Given the description of an element on the screen output the (x, y) to click on. 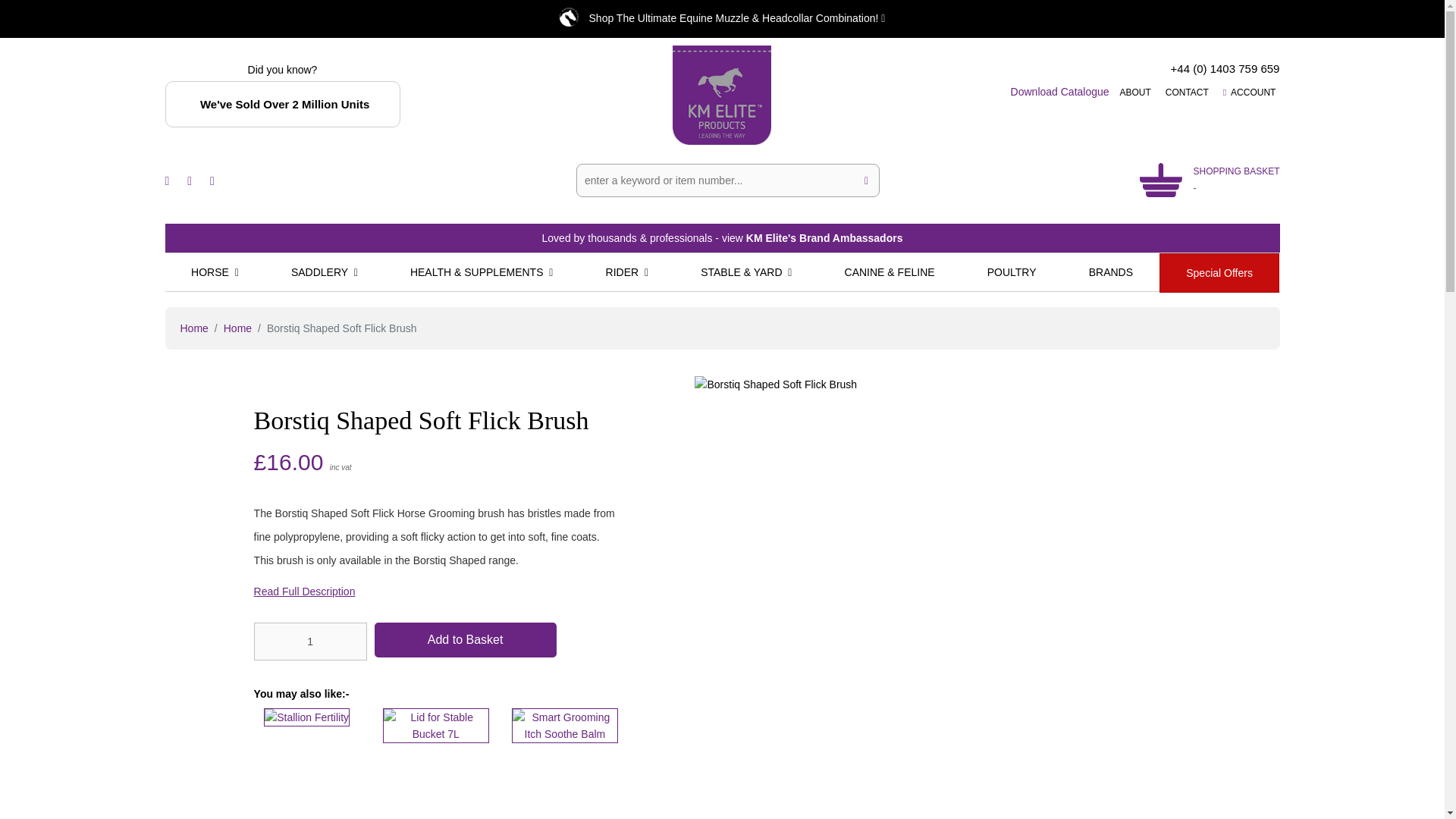
ABOUT (1133, 91)
HORSE   (214, 272)
Download Catalogue (1059, 91)
CONTACT (1184, 91)
 ACCOUNT (1247, 91)
We've Sold Over 2 Million Units (284, 104)
1 (309, 641)
